Given the description of an element on the screen output the (x, y) to click on. 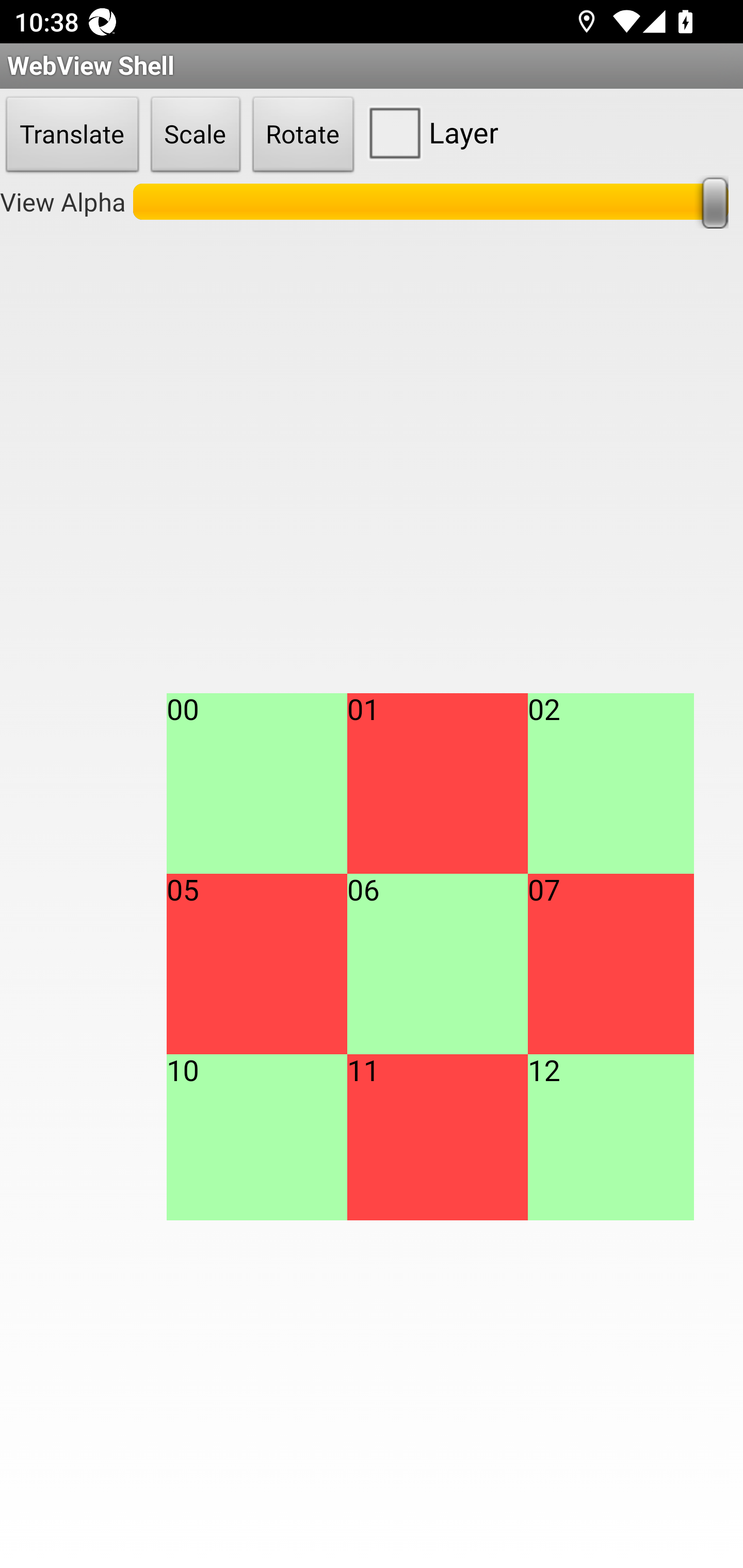
Layer (429, 132)
Translate (72, 135)
Scale (195, 135)
Rotate (303, 135)
